Given the description of an element on the screen output the (x, y) to click on. 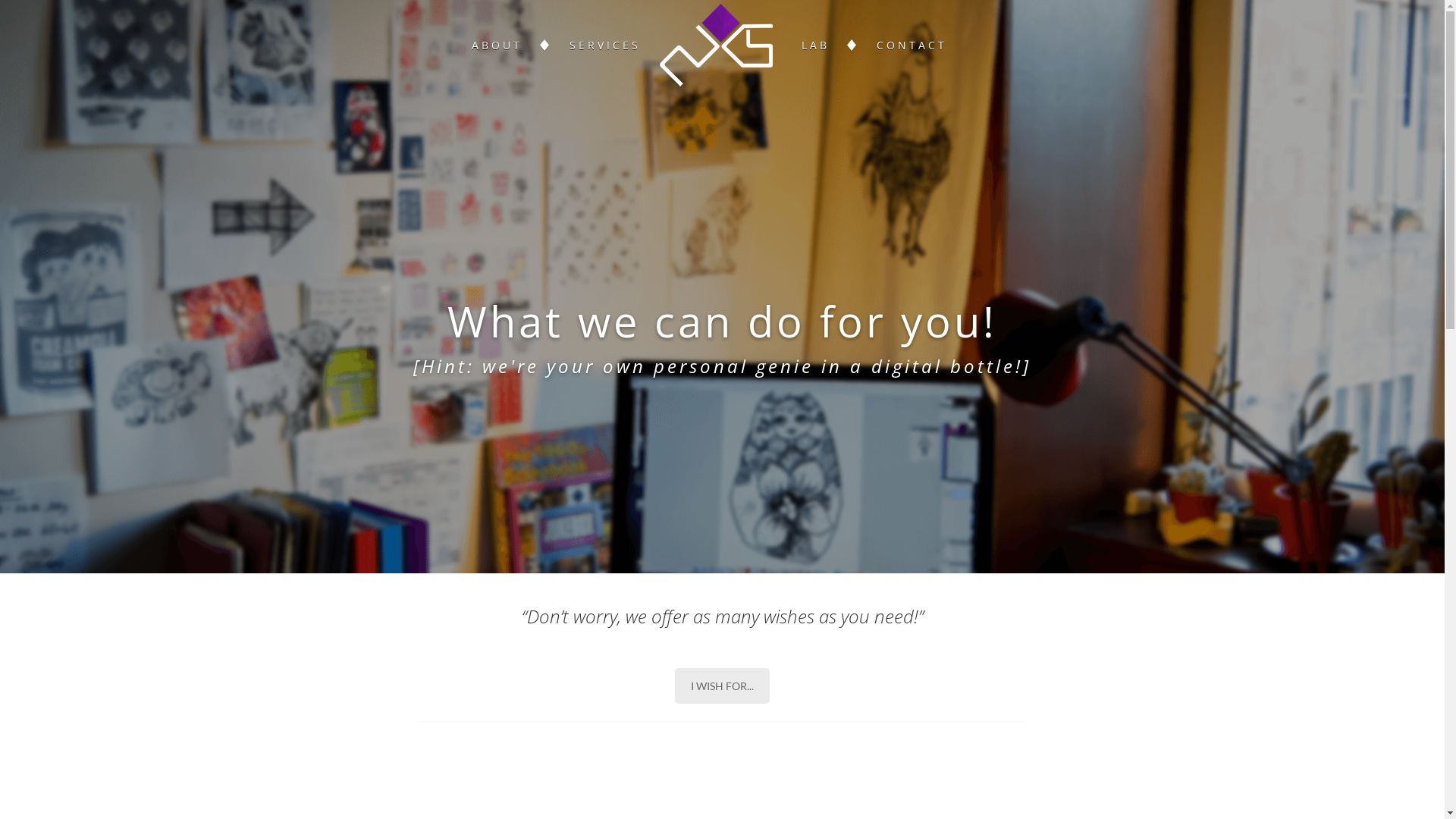
ABOUT Element type: text (494, 44)
I WISH FOR... Element type: text (721, 685)
SERVICES Element type: text (603, 44)
CONTACT Element type: text (909, 44)
LAB Element type: text (813, 44)
